Given the description of an element on the screen output the (x, y) to click on. 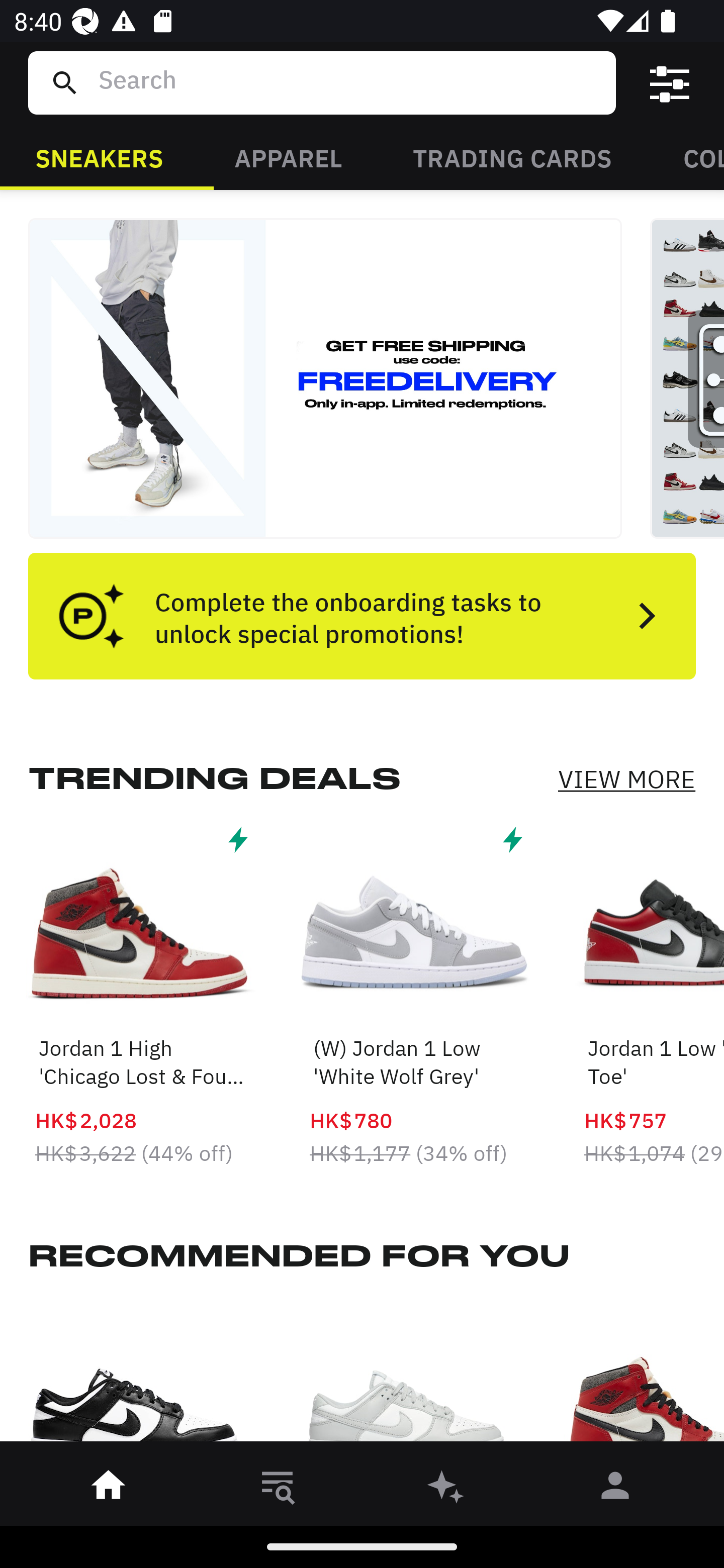
Search (349, 82)
 (669, 82)
SNEAKERS (99, 156)
APPAREL (287, 156)
TRADING CARDS (512, 156)
VIEW MORE (626, 779)
󰋜 (108, 1488)
󱎸 (277, 1488)
󰫢 (446, 1488)
󰀄 (615, 1488)
